Given the description of an element on the screen output the (x, y) to click on. 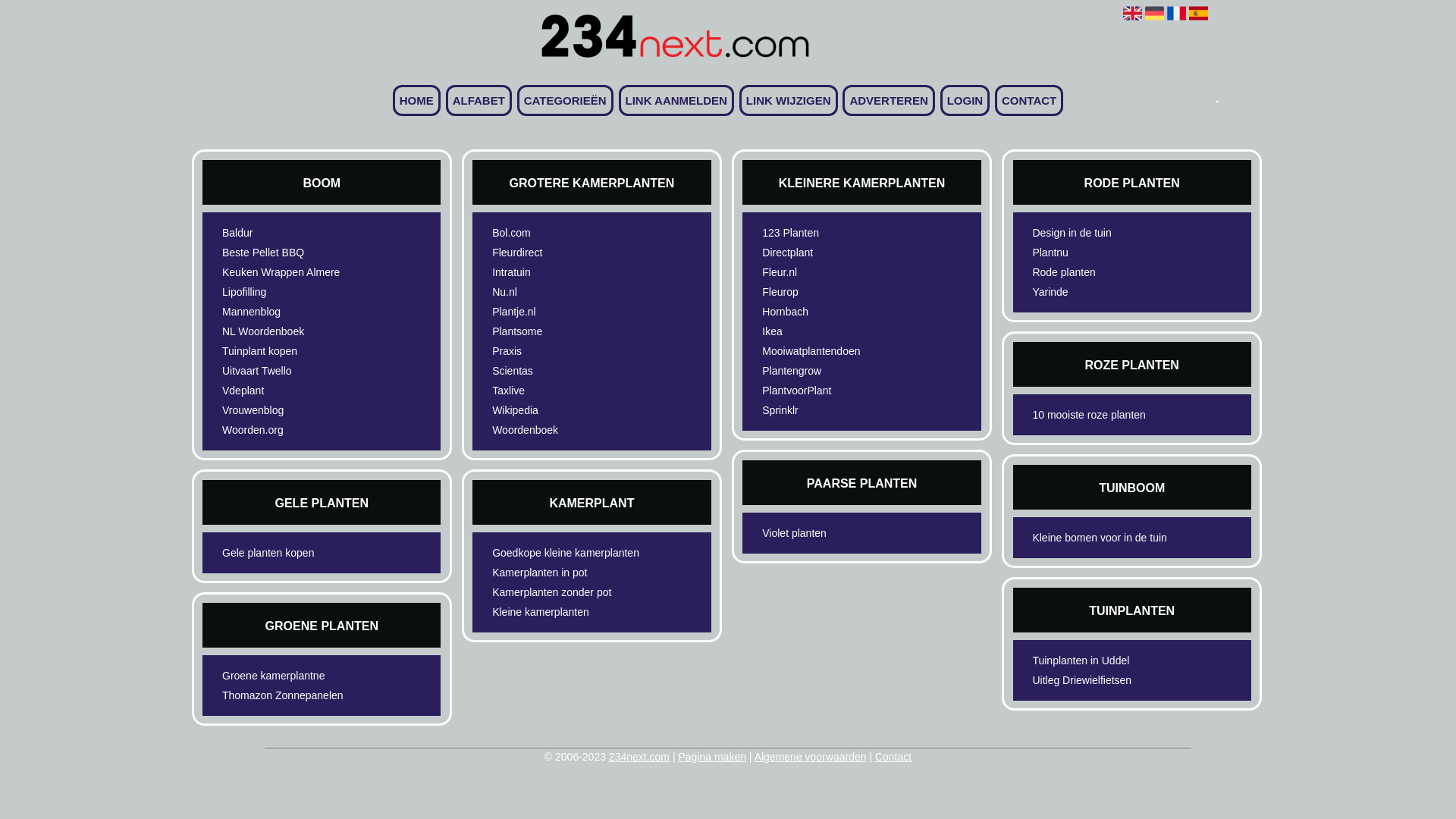
Kleine bomen voor in de tuin Element type: text (1105, 537)
Kamerplanten in pot Element type: text (565, 572)
LINK AANMELDEN Element type: text (676, 100)
Baldur Element type: text (295, 232)
Ikea Element type: text (835, 331)
Design in de tuin Element type: text (1105, 232)
Taxlive Element type: text (565, 390)
Uitleg Driewielfietsen Element type: text (1105, 680)
Vdeplant Element type: text (295, 390)
Beste Pellet BBQ Element type: text (295, 252)
Sprinklr Element type: text (835, 410)
Scientas Element type: text (565, 370)
Vrouwenblog Element type: text (295, 410)
Woordenboek Element type: text (565, 429)
Directplant Element type: text (835, 252)
Praxis Element type: text (565, 350)
Mooiwatplantendoen Element type: text (835, 350)
Nu.nl Element type: text (565, 291)
Thomazon Zonnepanelen Element type: text (295, 695)
Plantengrow Element type: text (835, 370)
Plantnu Element type: text (1105, 252)
Tuinplant kopen Element type: text (295, 350)
Gele planten kopen Element type: text (295, 552)
10 mooiste roze planten Element type: text (1105, 414)
Rode planten Element type: text (1105, 272)
Fleur.nl Element type: text (835, 272)
Keuken Wrappen Almere Element type: text (295, 272)
Intratuin Element type: text (565, 272)
HOME Element type: text (416, 100)
Hornbach Element type: text (835, 311)
Yarinde Element type: text (1105, 291)
Violet planten Element type: text (835, 532)
Kamerplanten zonder pot Element type: text (565, 592)
ADVERTEREN Element type: text (888, 100)
ALFABET Element type: text (478, 100)
234next.com Element type: text (638, 756)
Fleurop Element type: text (835, 291)
Woorden.org Element type: text (295, 429)
PlantvoorPlant Element type: text (835, 390)
123 Planten Element type: text (835, 232)
LOGIN Element type: text (965, 100)
Tuinplanten in Uddel Element type: text (1105, 660)
LINK WIJZIGEN Element type: text (788, 100)
Algemene voorwaarden Element type: text (810, 756)
Goedkope kleine kamerplanten Element type: text (565, 552)
Mannenblog Element type: text (295, 311)
Contact Element type: text (893, 756)
Fleurdirect Element type: text (565, 252)
Wikipedia Element type: text (565, 410)
NL Woordenboek Element type: text (295, 331)
Bol.com Element type: text (565, 232)
Uitvaart Twello Element type: text (295, 370)
Groene kamerplantne Element type: text (295, 675)
Kleine kamerplanten Element type: text (565, 611)
Plantje.nl Element type: text (565, 311)
Pagina maken Element type: text (711, 756)
Lipofilling Element type: text (295, 291)
Plantsome Element type: text (565, 331)
CONTACT Element type: text (1028, 100)
